Given the description of an element on the screen output the (x, y) to click on. 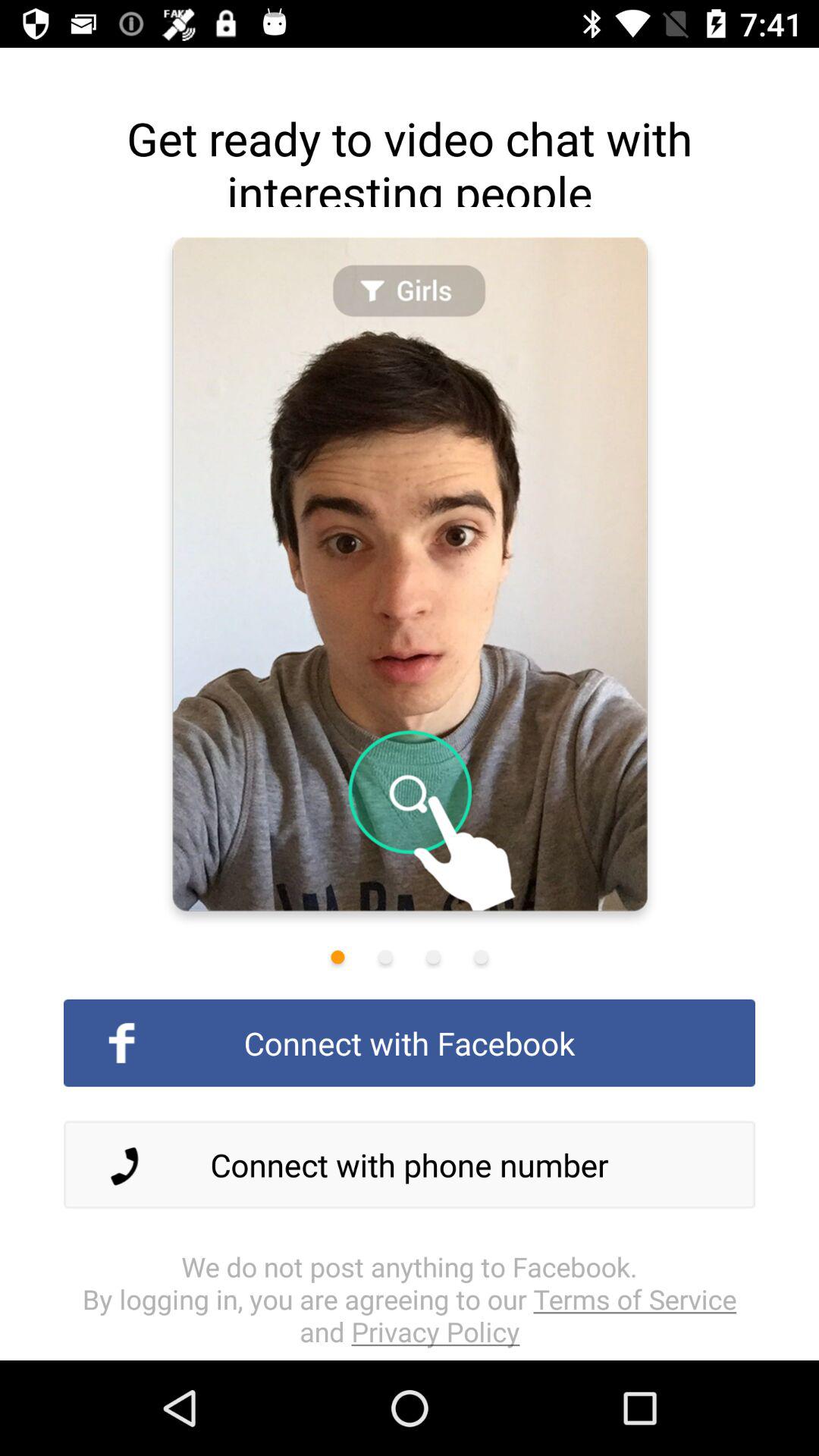
alerta para pagina (433, 957)
